Given the description of an element on the screen output the (x, y) to click on. 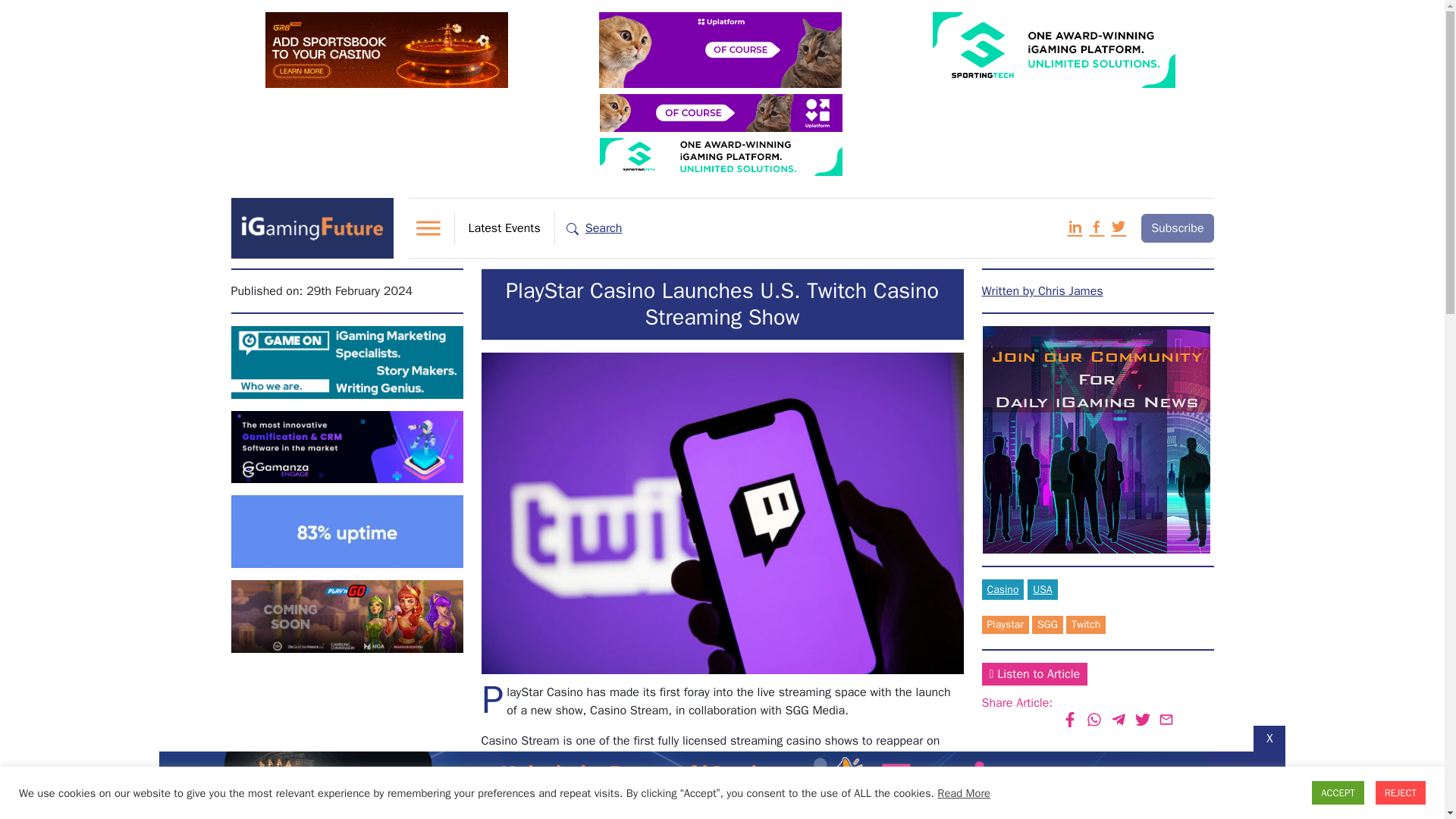
Share on Twitter (1142, 719)
Share via Email (1166, 719)
Share on Whatsapp (1094, 719)
Share on Facebook (1069, 719)
Chris James (1041, 290)
Share on Telegram (1118, 719)
